Given the description of an element on the screen output the (x, y) to click on. 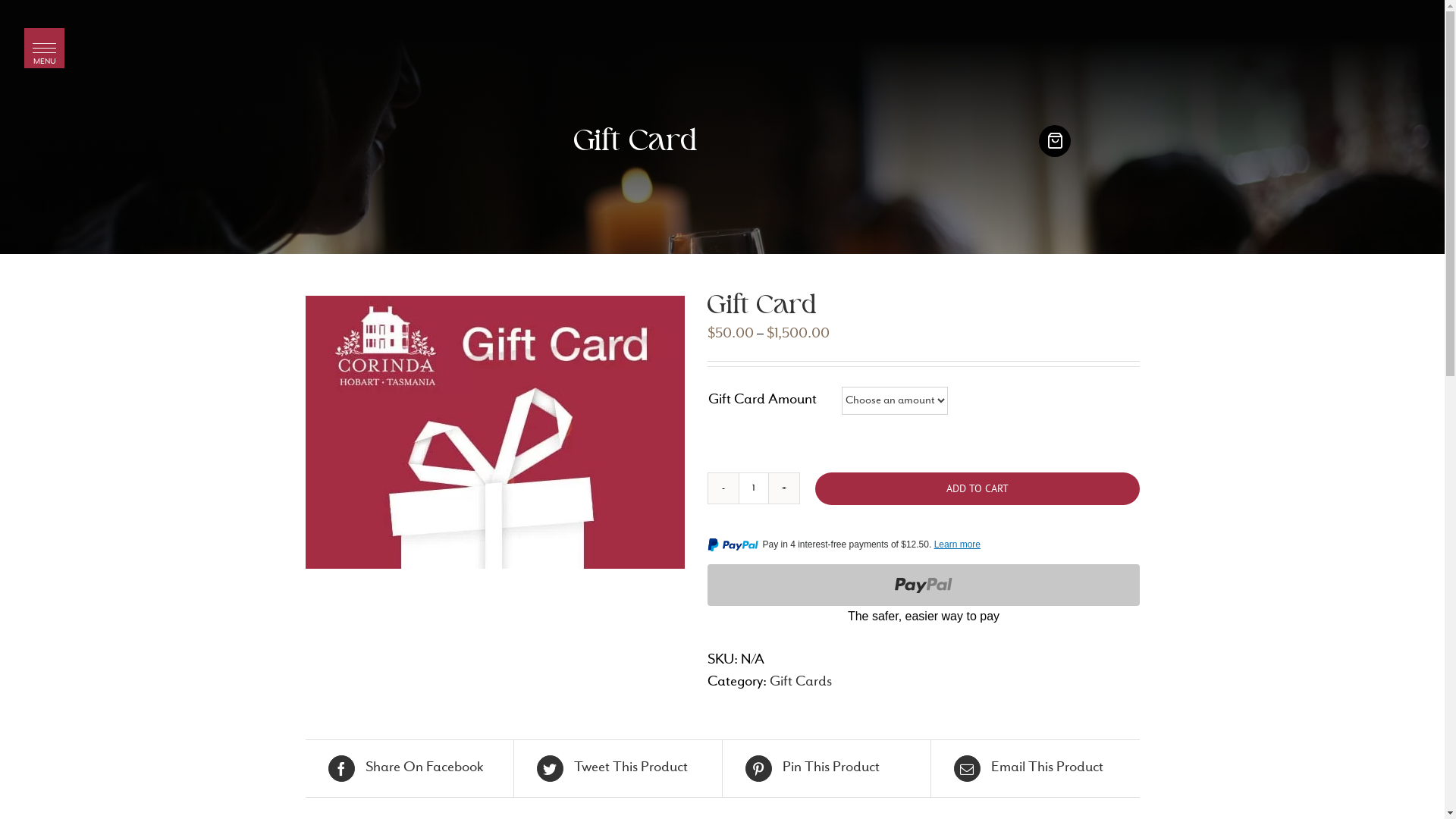
PayPal Message 1 Element type: hover (922, 546)
Share On Facebook Element type: text (408, 768)
Gift Cards Element type: text (799, 681)
ADD TO CART Element type: text (976, 488)
Pin This Product Element type: text (825, 768)
corinda-gift-card Element type: hover (494, 431)
Tweet This Product Element type: text (617, 768)
PayPal Element type: hover (922, 595)
Email This Product Element type: text (1035, 768)
